Given the description of an element on the screen output the (x, y) to click on. 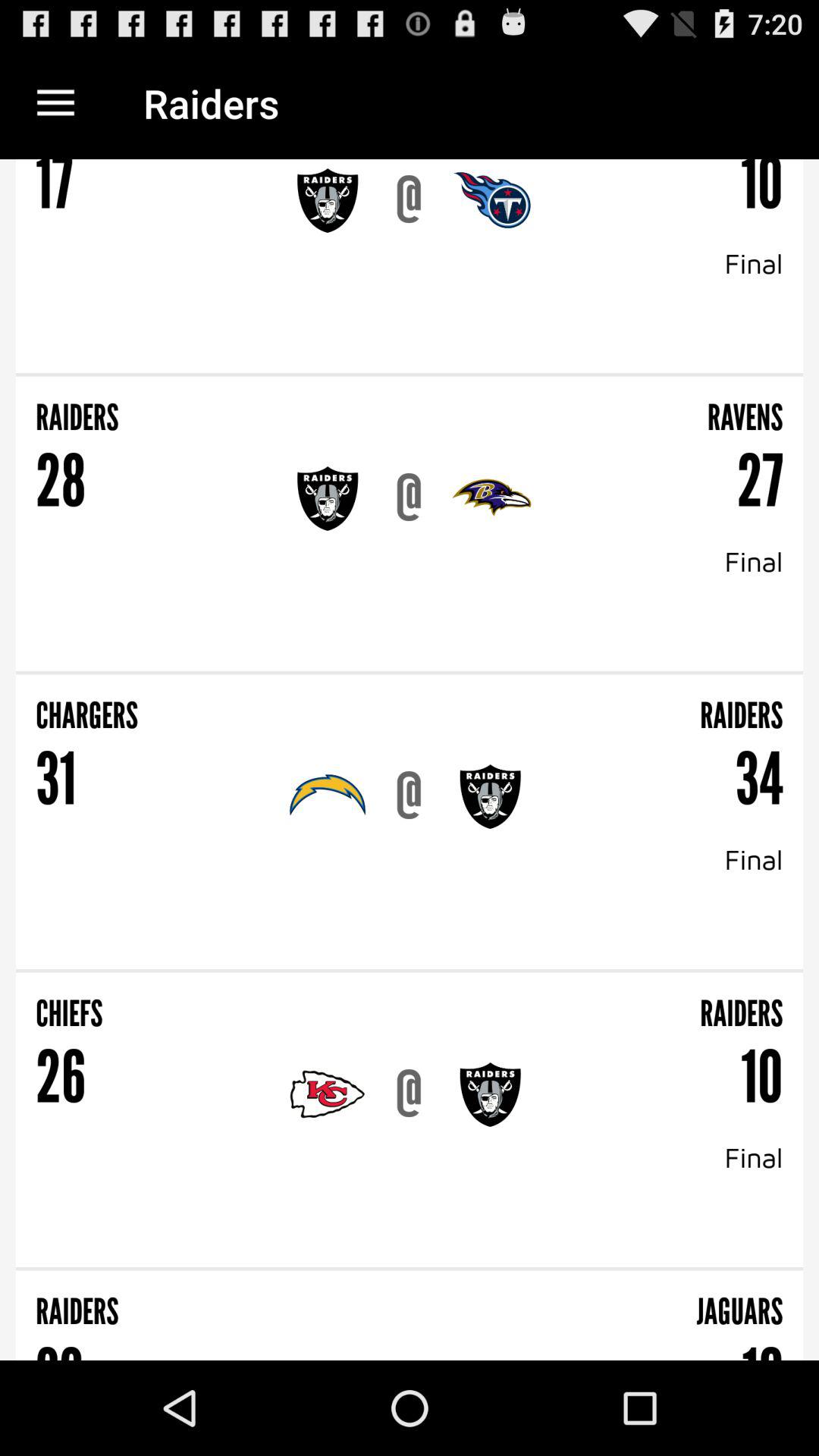
tap @ icon (408, 1094)
